Given the description of an element on the screen output the (x, y) to click on. 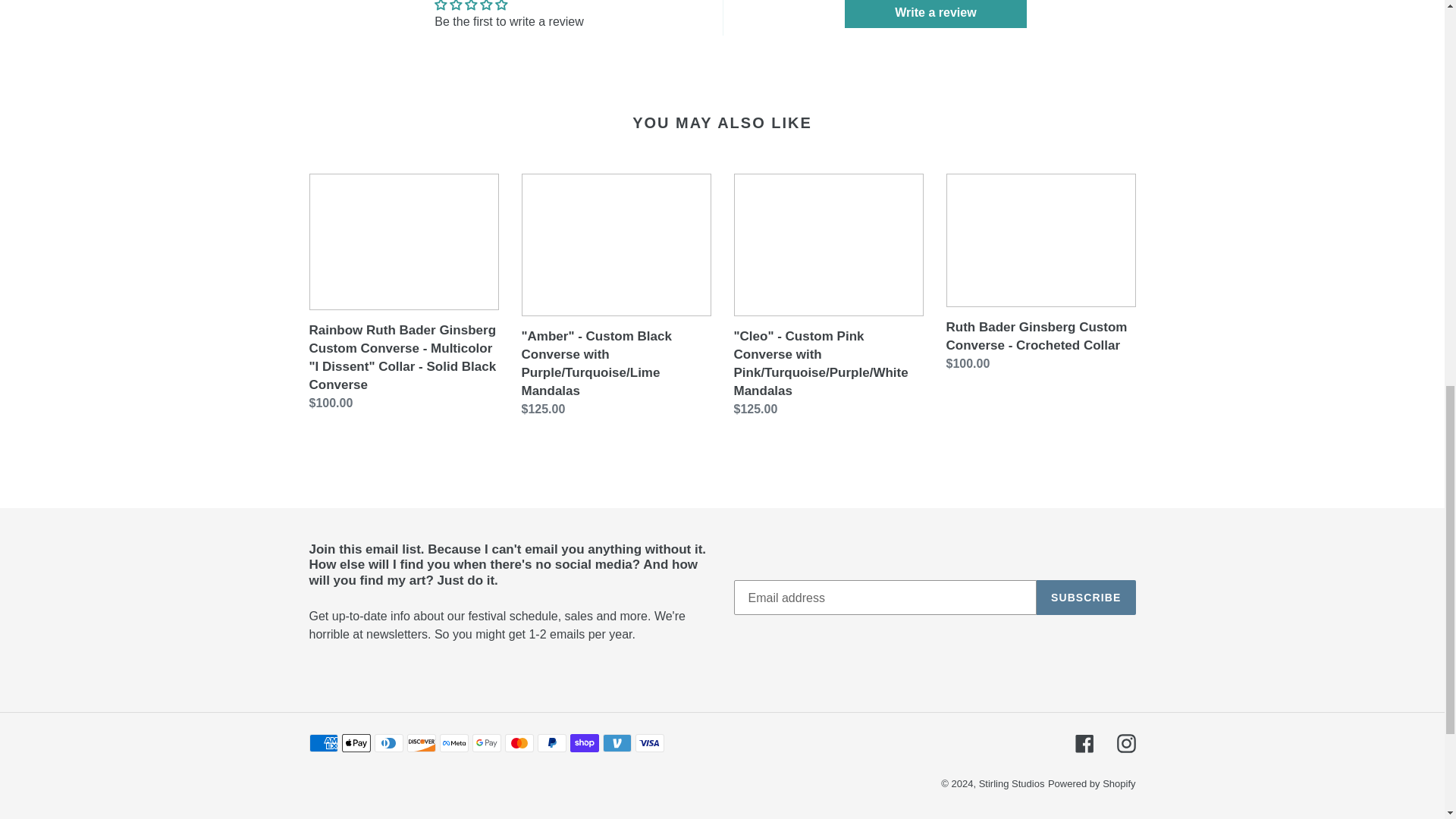
Stirling Studios (1011, 783)
Facebook (1084, 742)
Write a review (935, 13)
Ruth Bader Ginsberg Custom Converse - Crocheted Collar (1040, 275)
Instagram (1125, 742)
SUBSCRIBE (1085, 597)
Powered by Shopify (1091, 783)
